Given the description of an element on the screen output the (x, y) to click on. 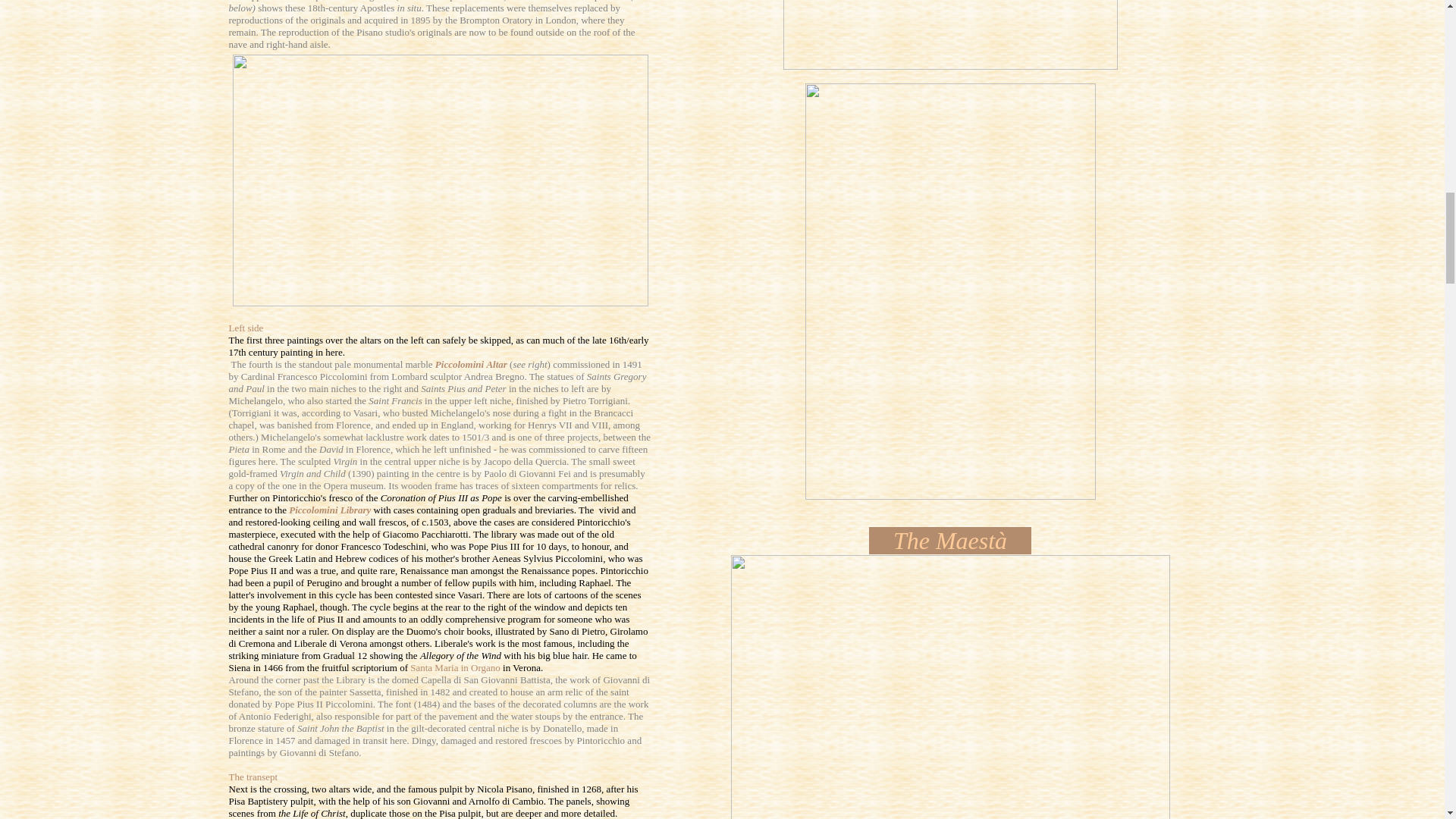
Santa Maria in Organo (455, 667)
